Given the description of an element on the screen output the (x, y) to click on. 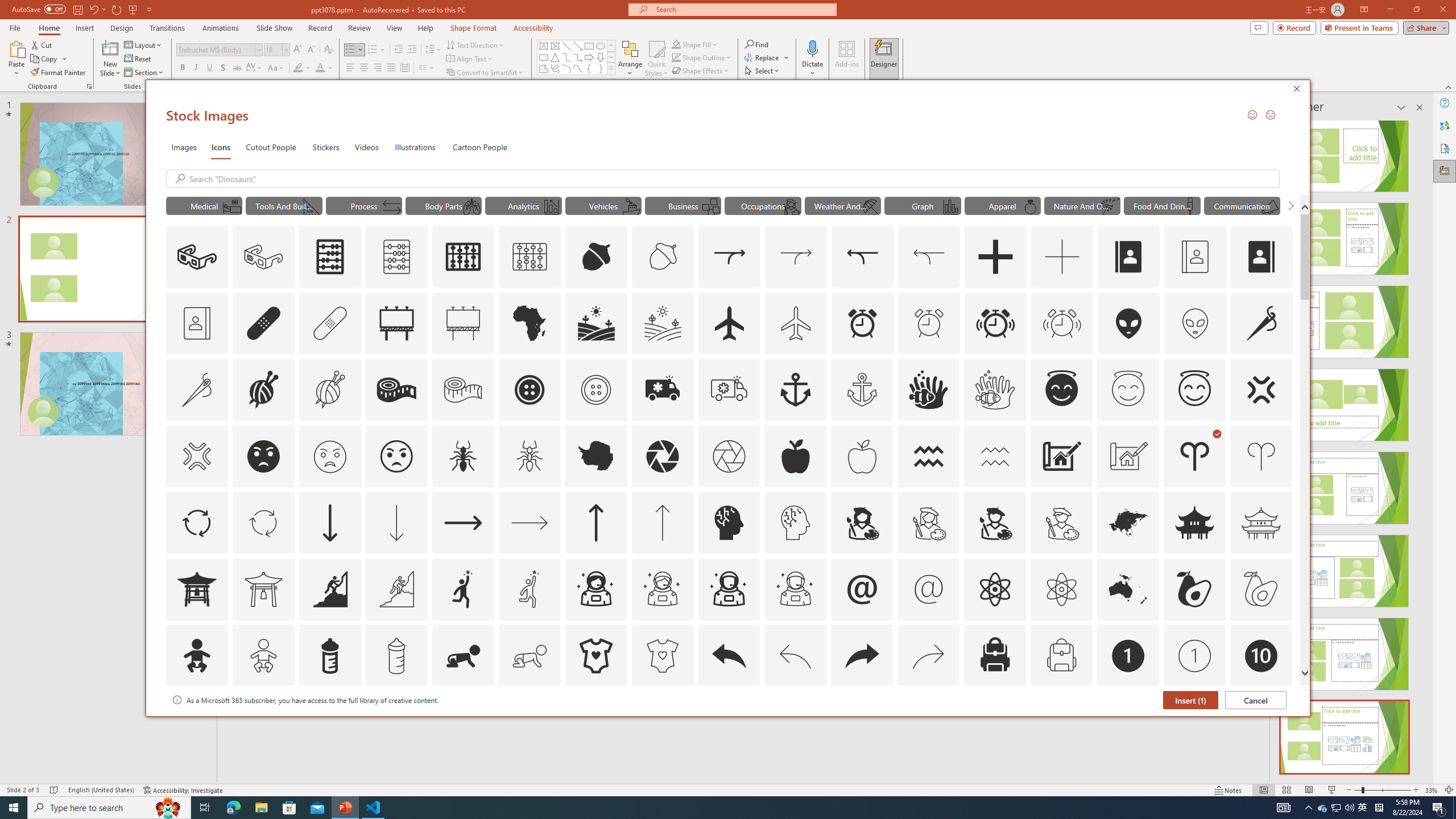
AutomationID: Icons_AlterationsTailoring3 (529, 389)
AutomationID: Icons_AnemoneAndClownfish (928, 389)
AutomationID: Icons_ArtistFemale (861, 522)
AutomationID: Icons_Transfer_M (391, 206)
AutomationID: Icons_Baby_M (263, 655)
AutomationID: Icons_Aries (1194, 455)
AutomationID: Icons_BabyCrawling_M (529, 655)
